Given the description of an element on the screen output the (x, y) to click on. 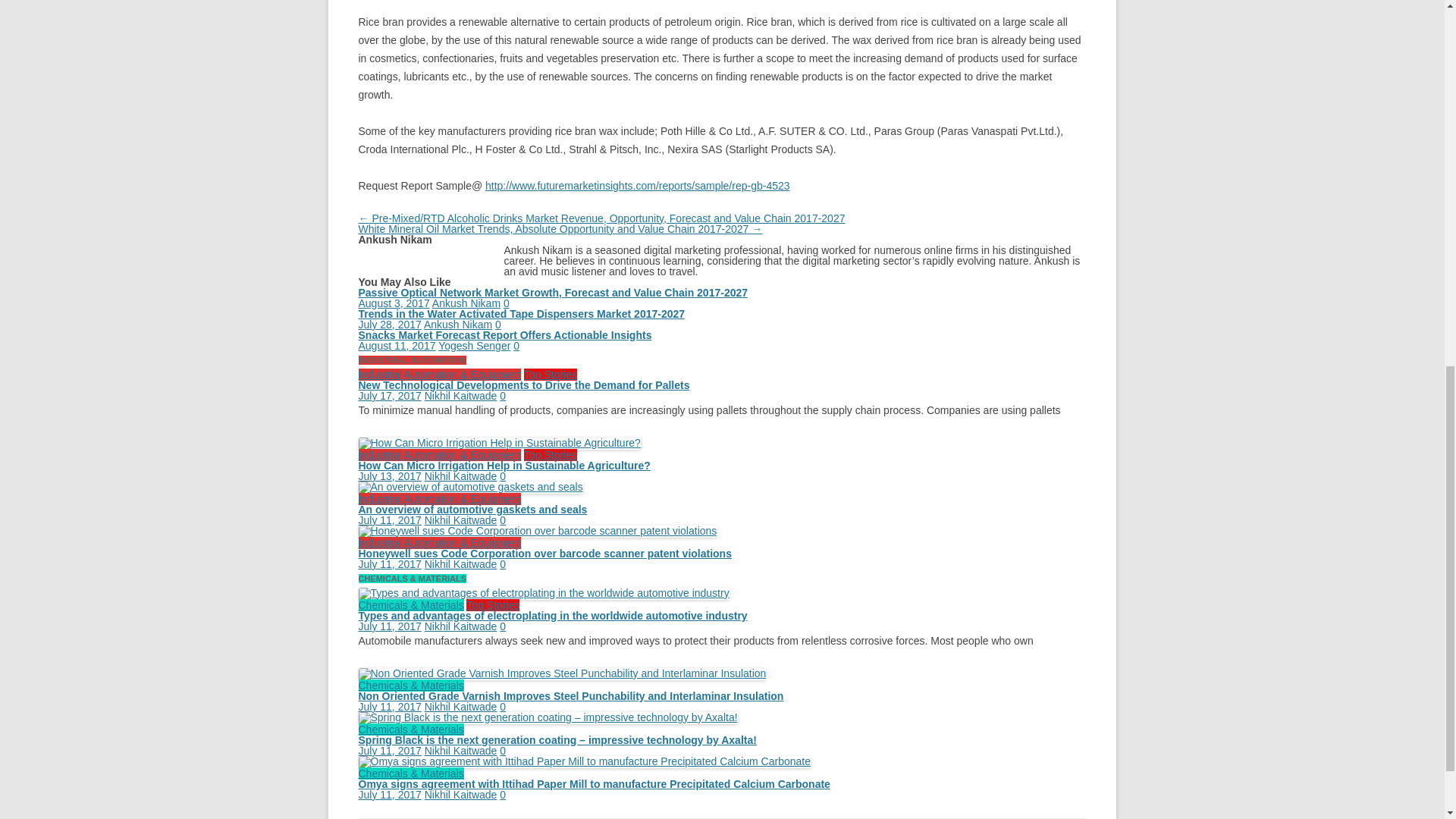
Nikhil Kaitwade (461, 476)
July 28, 2017 (389, 324)
August 3, 2017 (393, 303)
Yogesh Senger (474, 345)
Top Stories (550, 454)
10:35 am (393, 303)
July 13, 2017 (389, 476)
Nikhil Kaitwade (461, 395)
12:18 pm (389, 324)
Ankush Nikam (466, 303)
Ankush Nikam (457, 324)
August 11, 2017 (396, 345)
How Can Micro Irrigation Help in Sustainable Agriculture? (503, 465)
